Given the description of an element on the screen output the (x, y) to click on. 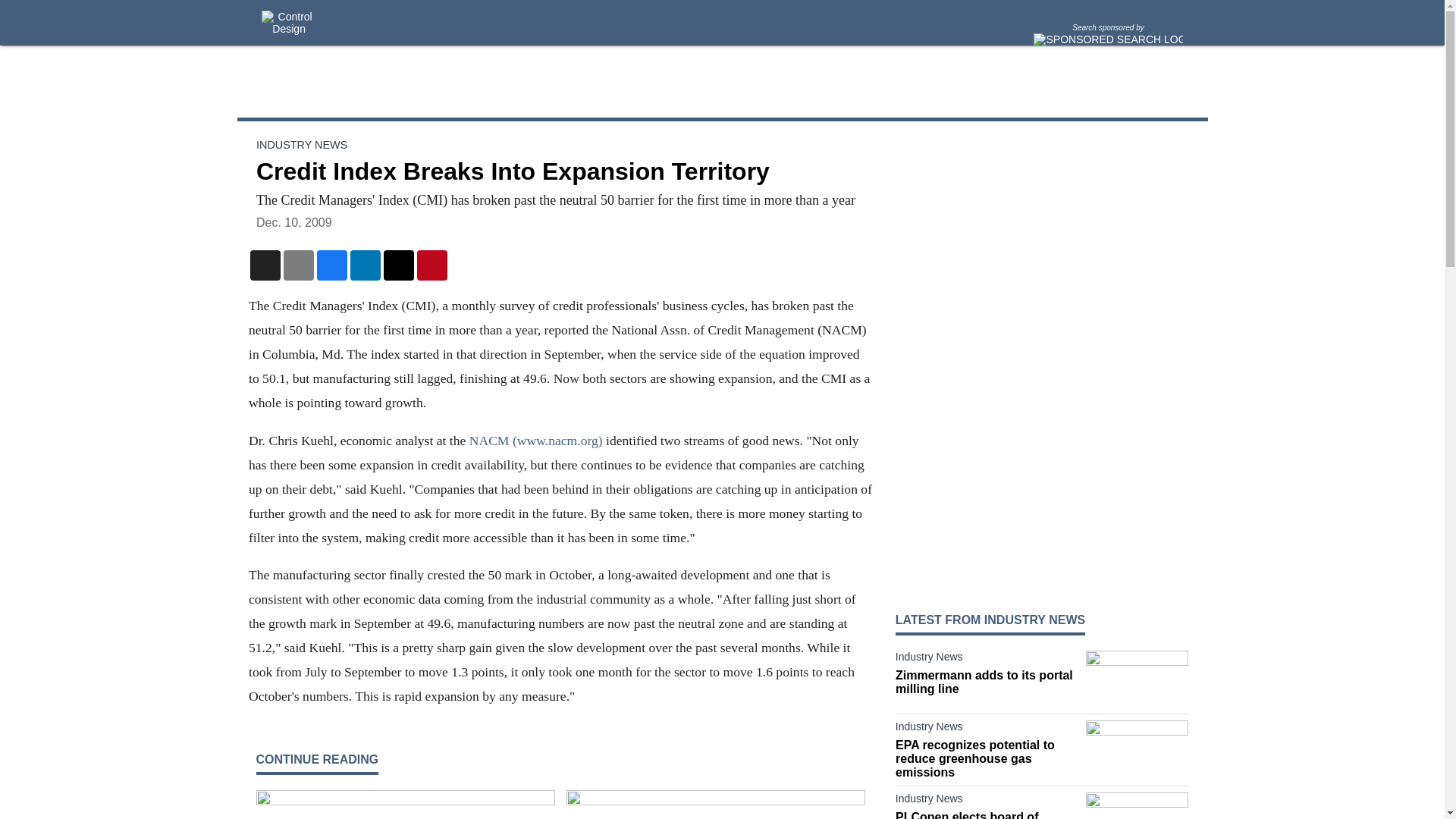
Industry News (986, 801)
Industry News (986, 729)
PLCopen elects board of management at annual meeting (986, 814)
Industry News (986, 659)
INDUSTRY NEWS (301, 144)
Zimmermann adds to its portal milling line (986, 682)
EPA recognizes potential to reduce greenhouse gas emissions (986, 758)
